Given the description of an element on the screen output the (x, y) to click on. 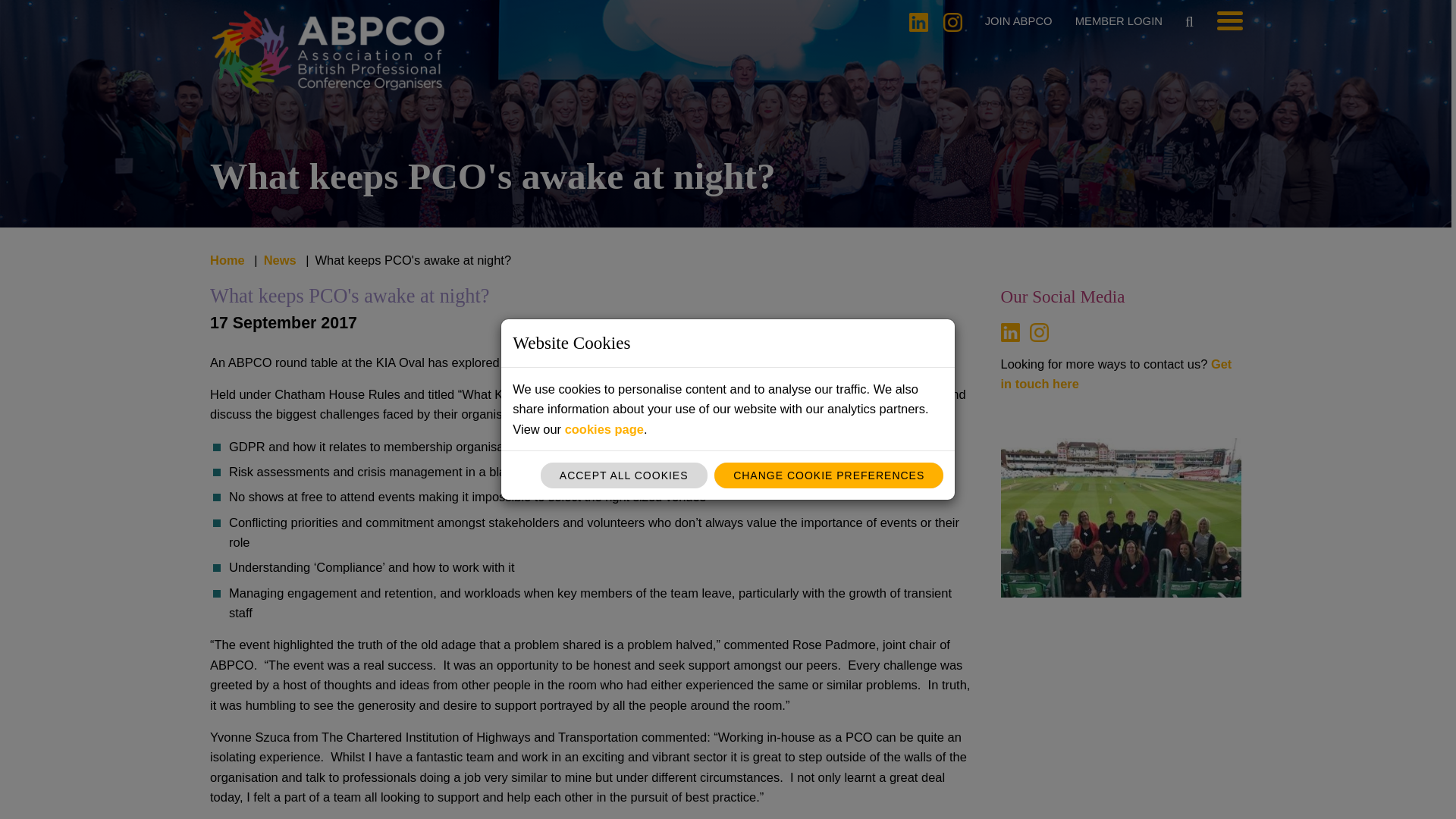
Accept all cookies (623, 475)
Skip to main content (21, 21)
CHANGE COOKIE PREFERENCES (828, 475)
JOIN ABPCO (1019, 21)
MEMBER LOGIN (1118, 21)
cookies page (603, 428)
Accept all cookies (623, 475)
